Given the description of an element on the screen output the (x, y) to click on. 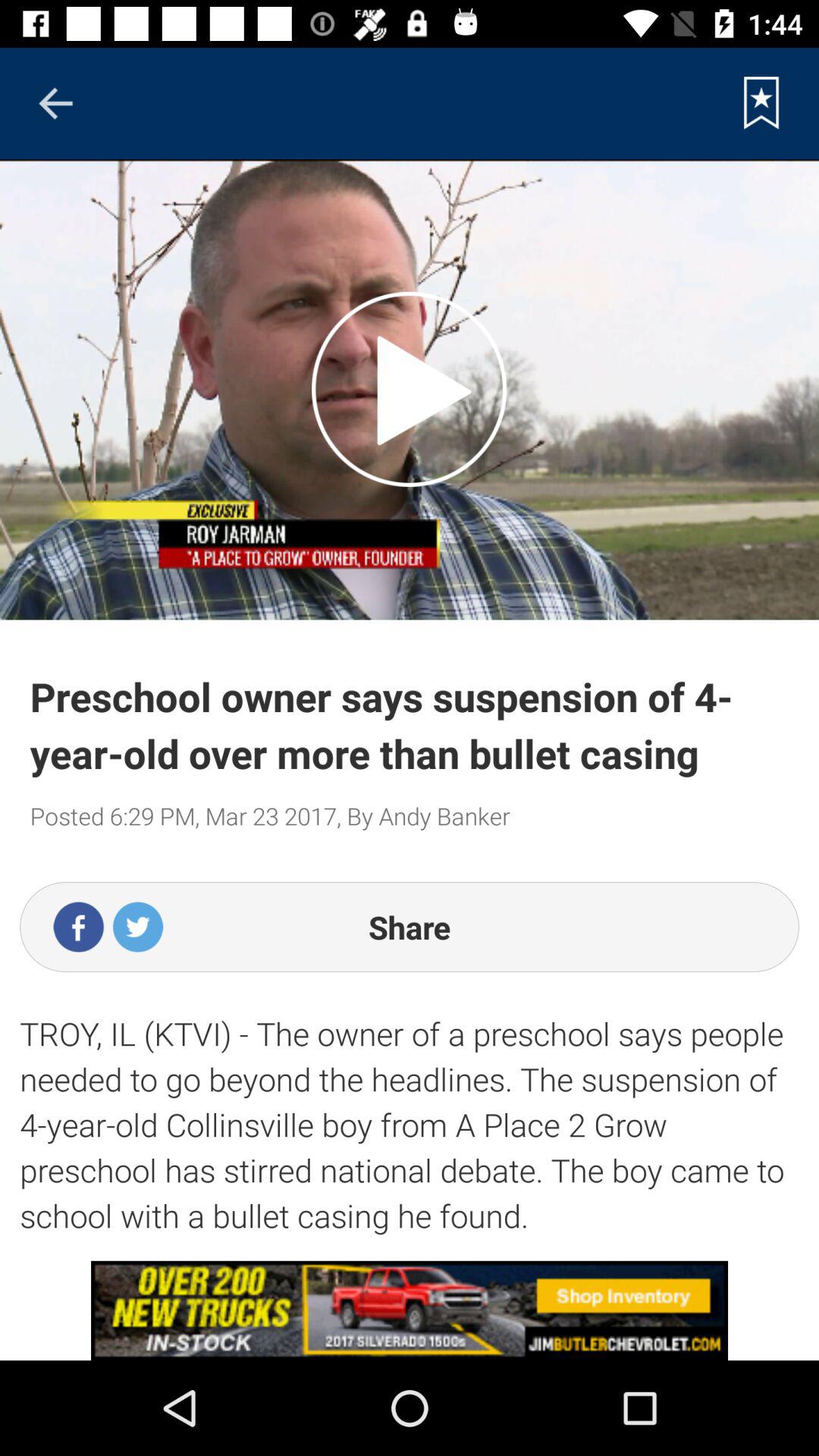
play the video (408, 388)
